Given the description of an element on the screen output the (x, y) to click on. 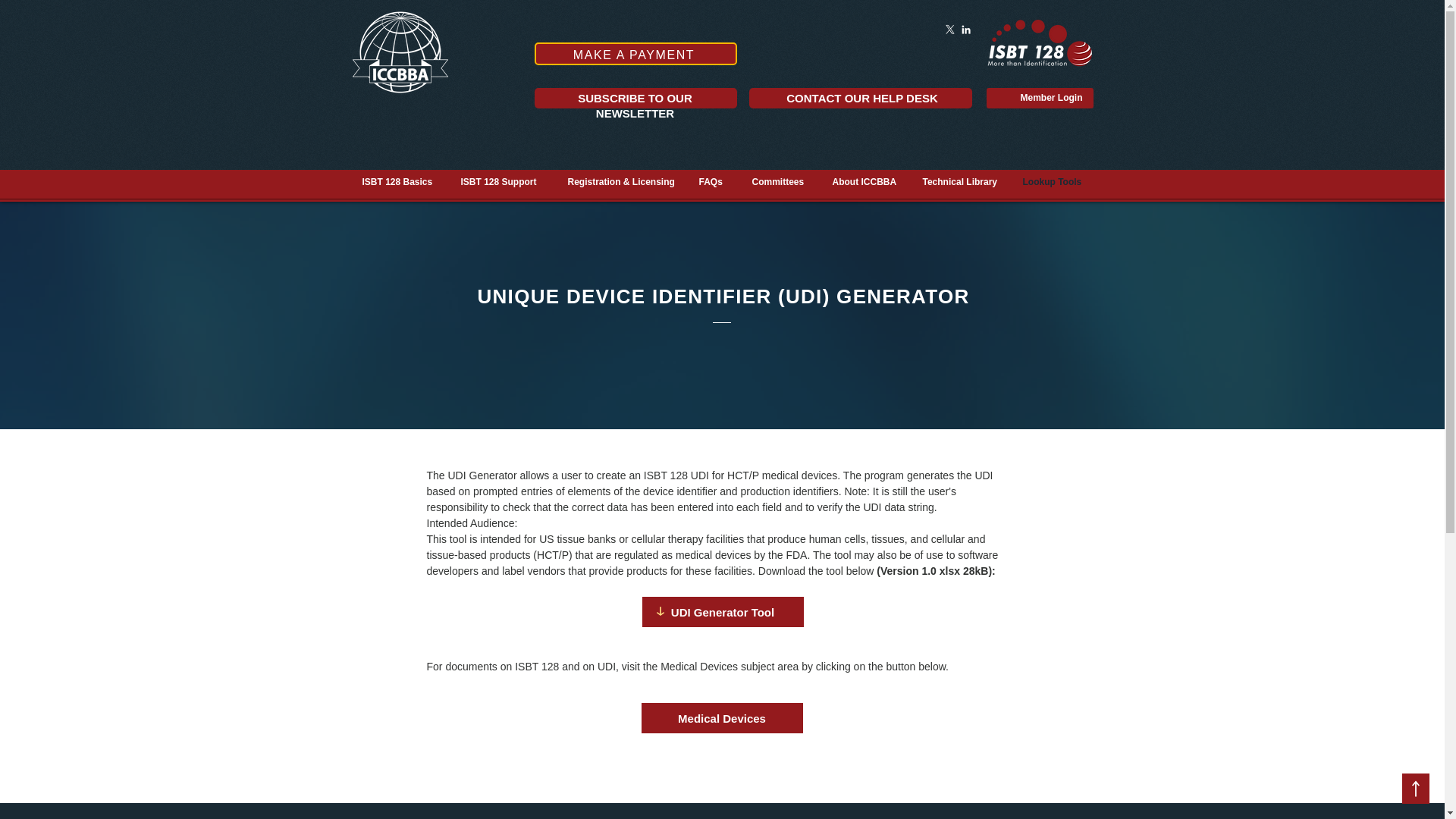
ISBT 128 Basics (399, 181)
CONTACT OUR HELP DESK (861, 97)
SUBSCRIBE  (612, 97)
ISBT 128 Support (502, 181)
MAKE A PAYMENT (635, 53)
FAQs (713, 181)
Member Login (1051, 97)
Committees (780, 181)
